Given the description of an element on the screen output the (x, y) to click on. 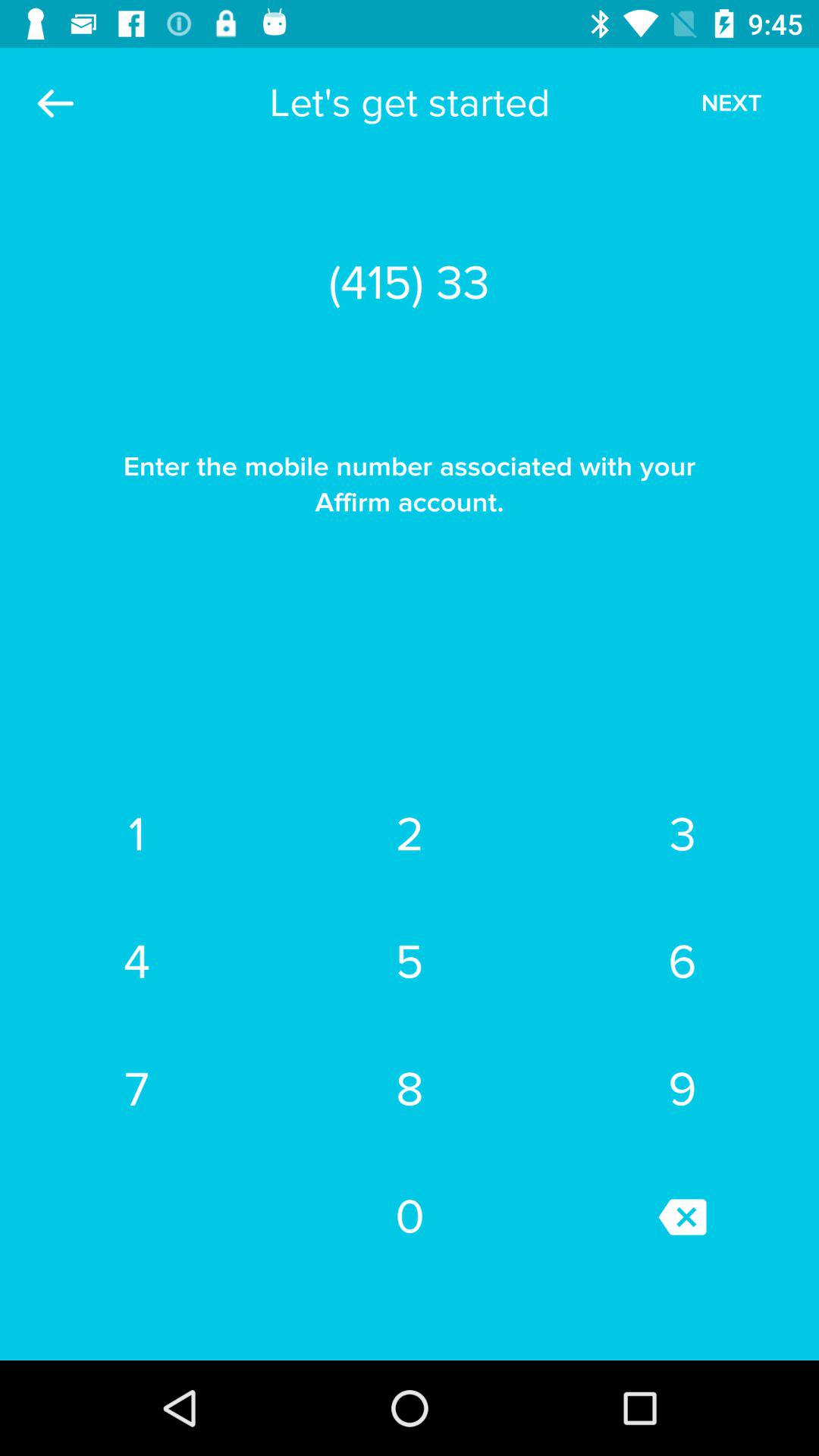
click item at the bottom left corner (136, 1089)
